Given the description of an element on the screen output the (x, y) to click on. 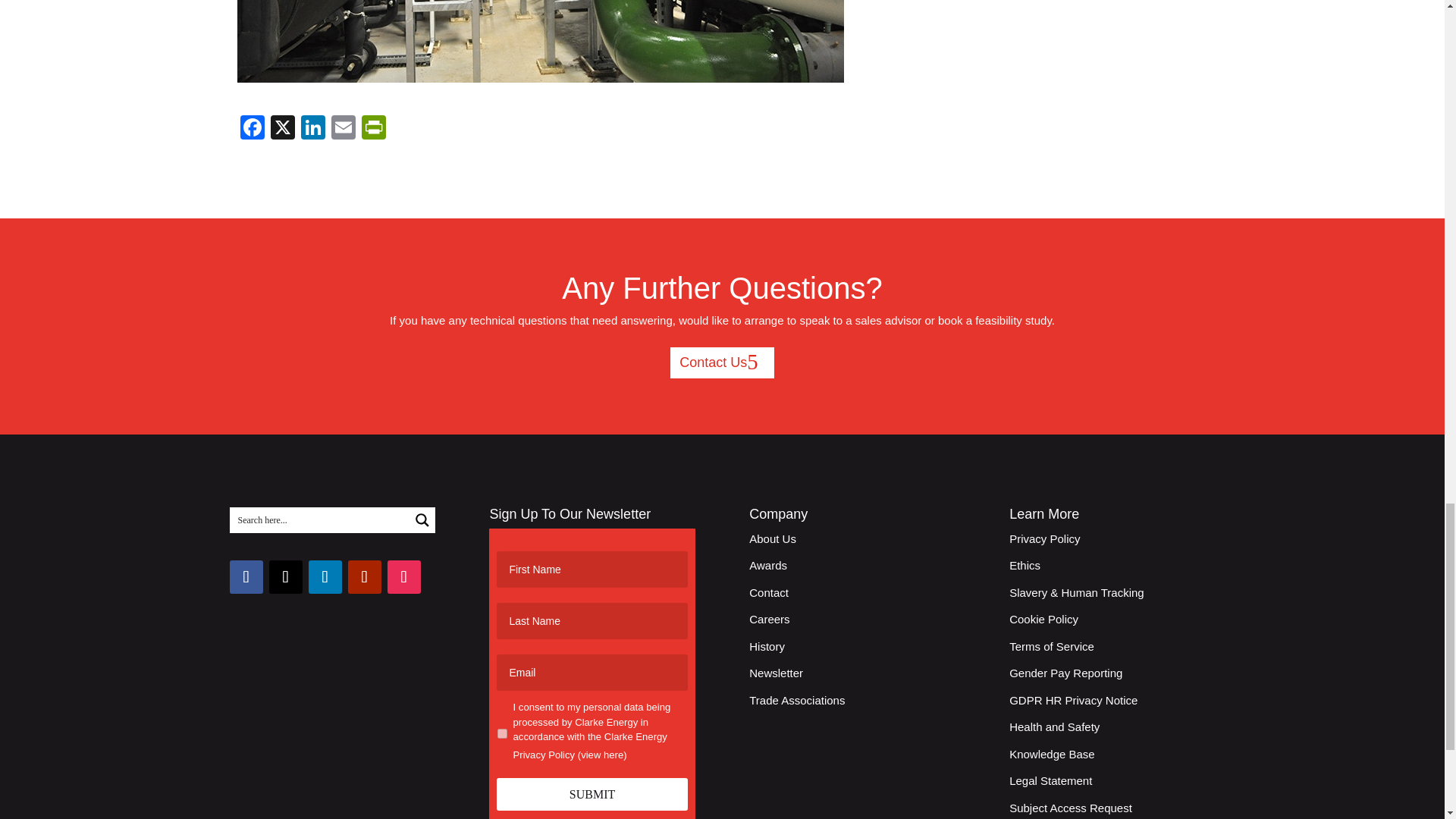
Submit (591, 794)
